Given the description of an element on the screen output the (x, y) to click on. 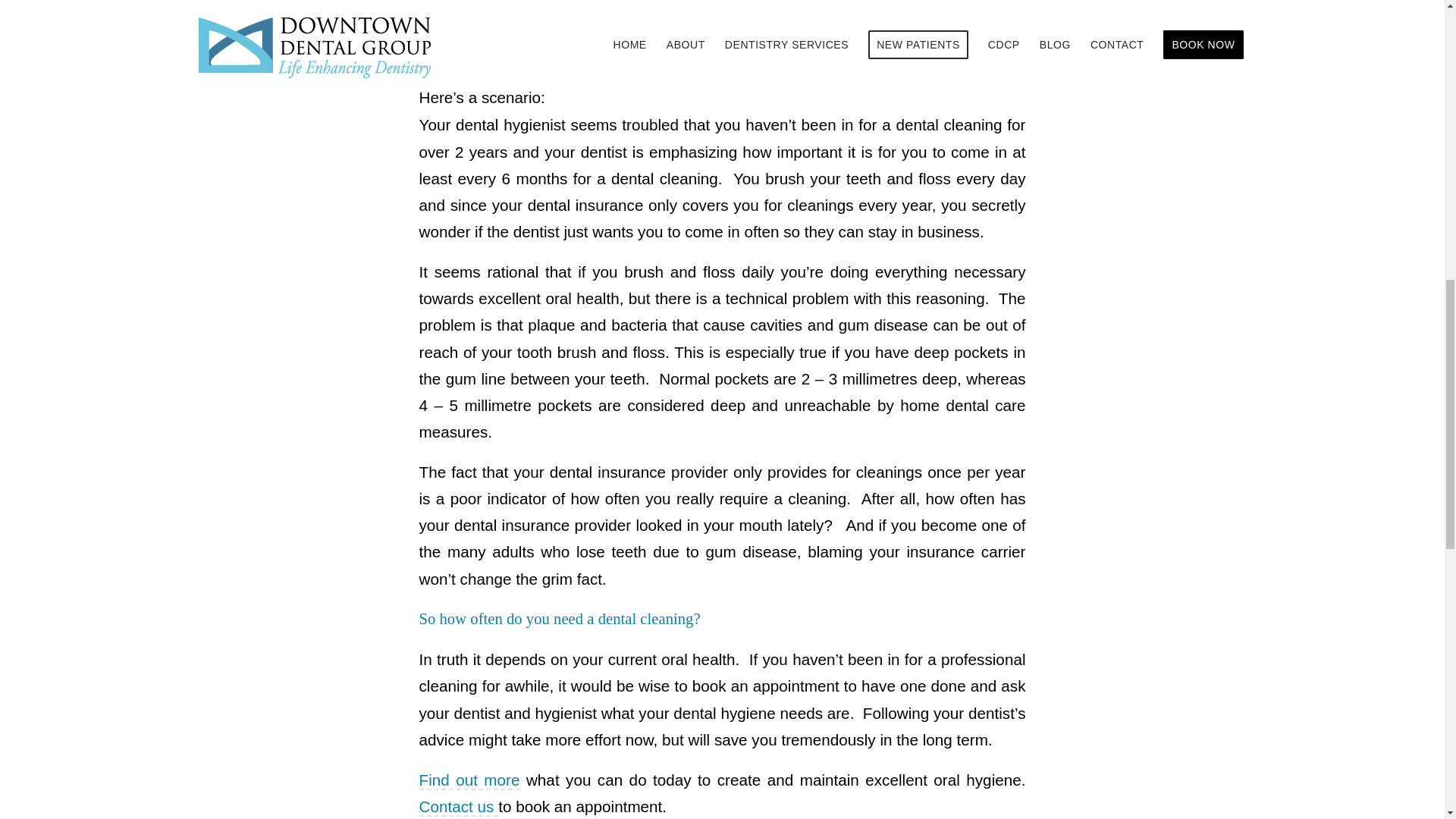
Dental Hygiene (469, 780)
